Given the description of an element on the screen output the (x, y) to click on. 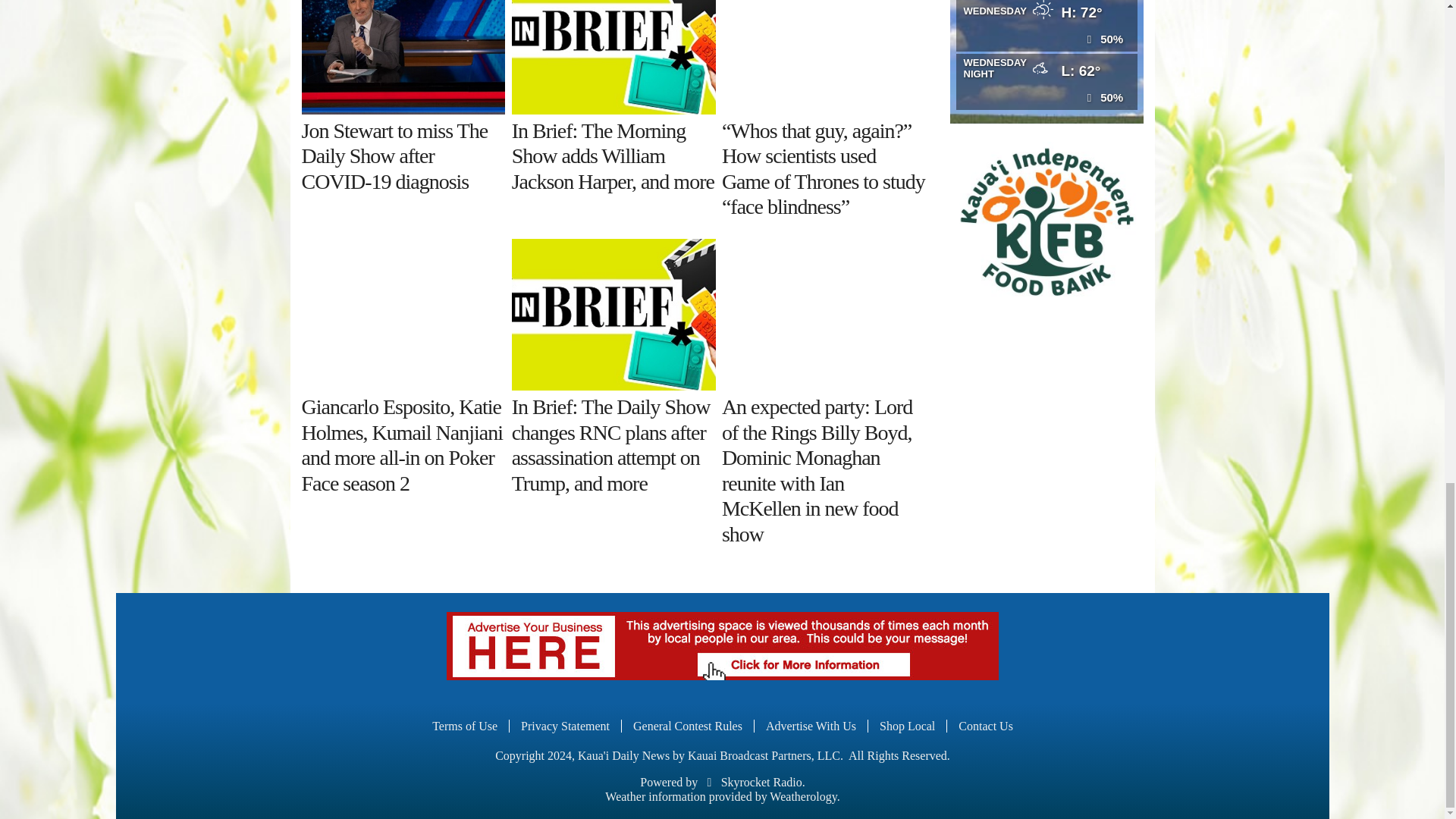
Jon Stewart to miss The Daily Show after COVID-19 diagnosis (403, 57)
